Given the description of an element on the screen output the (x, y) to click on. 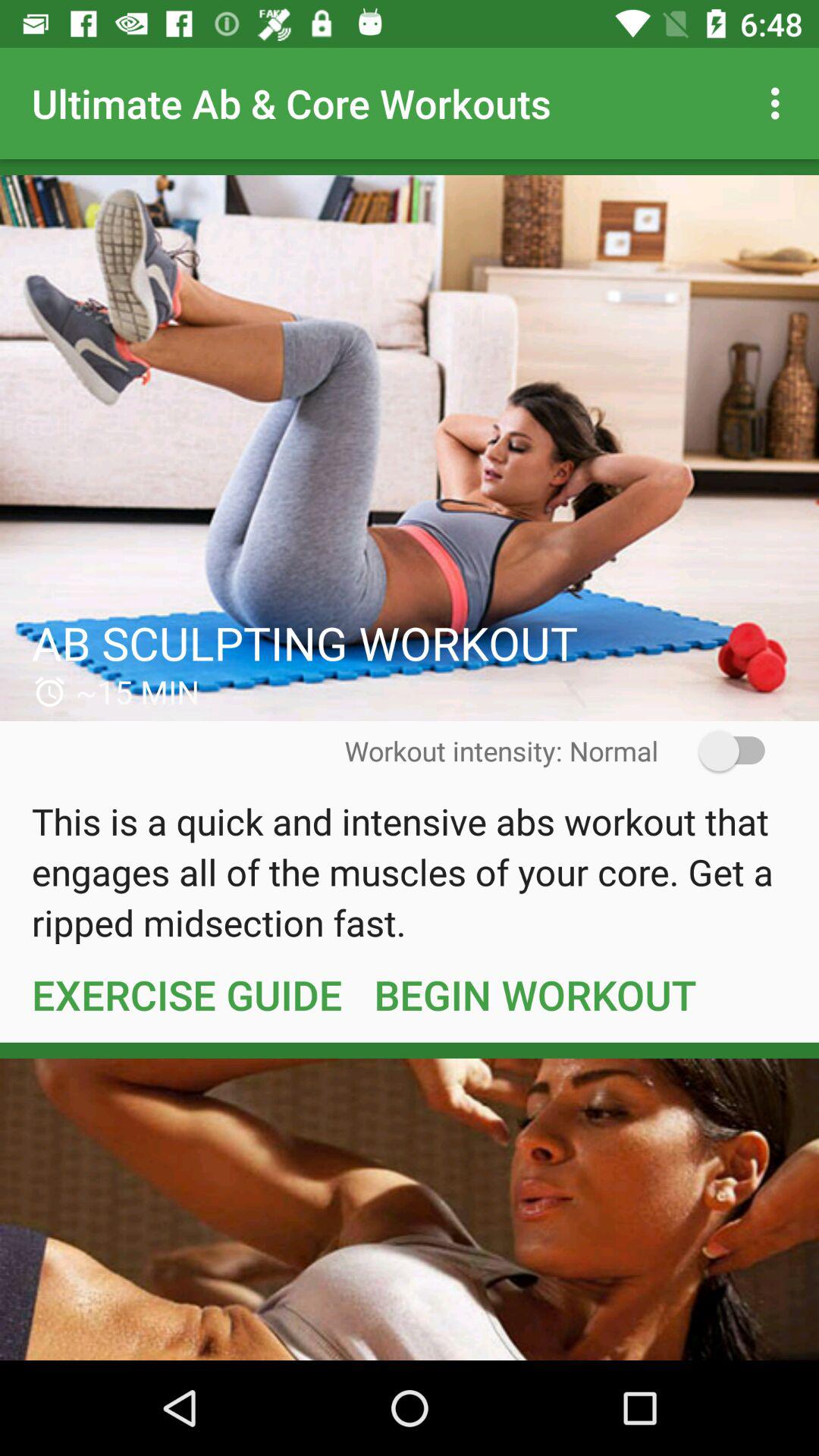
swipe until the begin workout icon (535, 994)
